Given the description of an element on the screen output the (x, y) to click on. 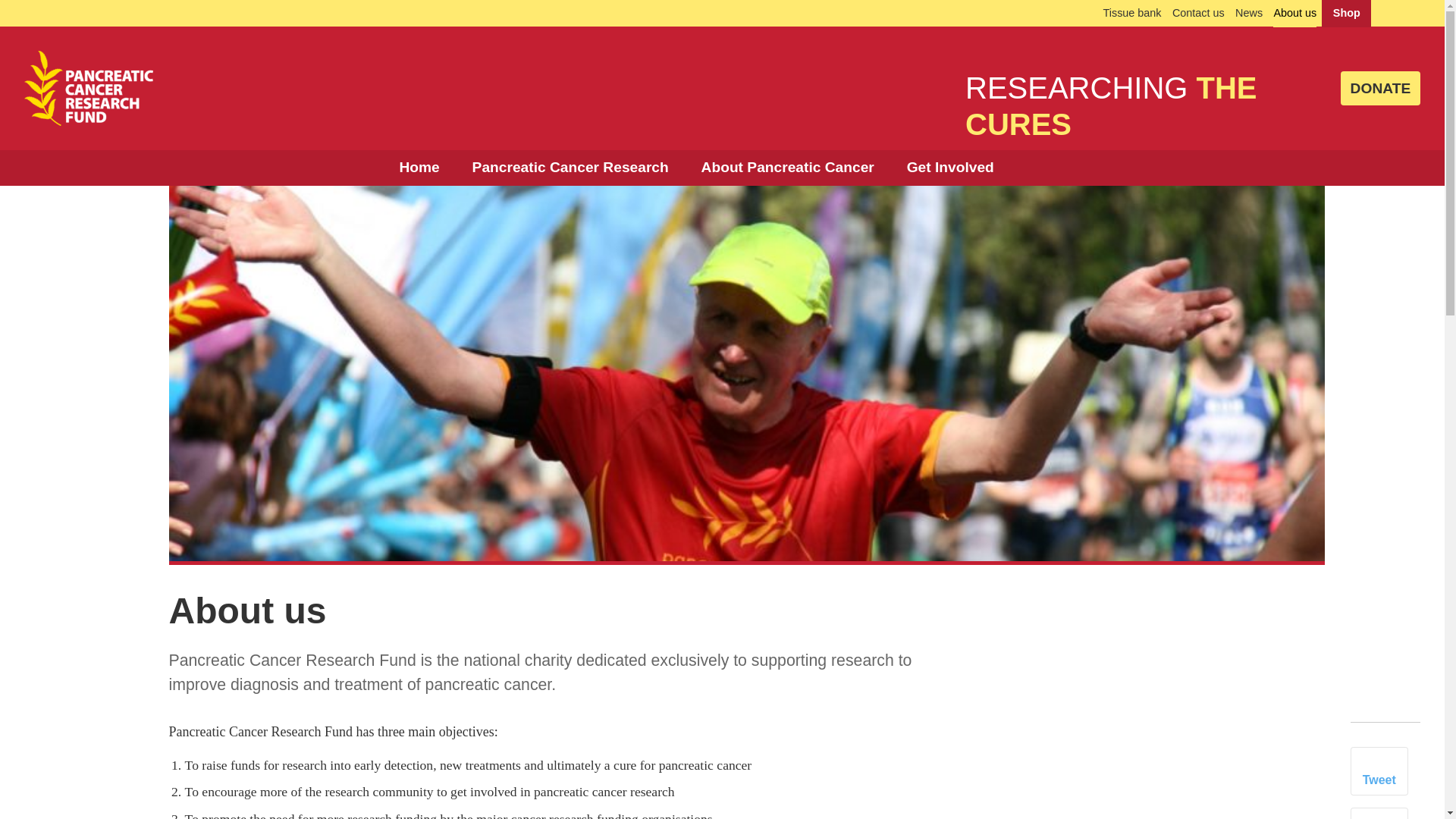
Tissue bank (1131, 13)
Home (419, 167)
Get Involved (950, 167)
Pancreatic Cancer Research (569, 167)
About us (1294, 13)
Contact us (1198, 13)
DONATE (1380, 88)
About Pancreatic Cancer (786, 167)
Shop (1346, 13)
News (1248, 13)
